Given the description of an element on the screen output the (x, y) to click on. 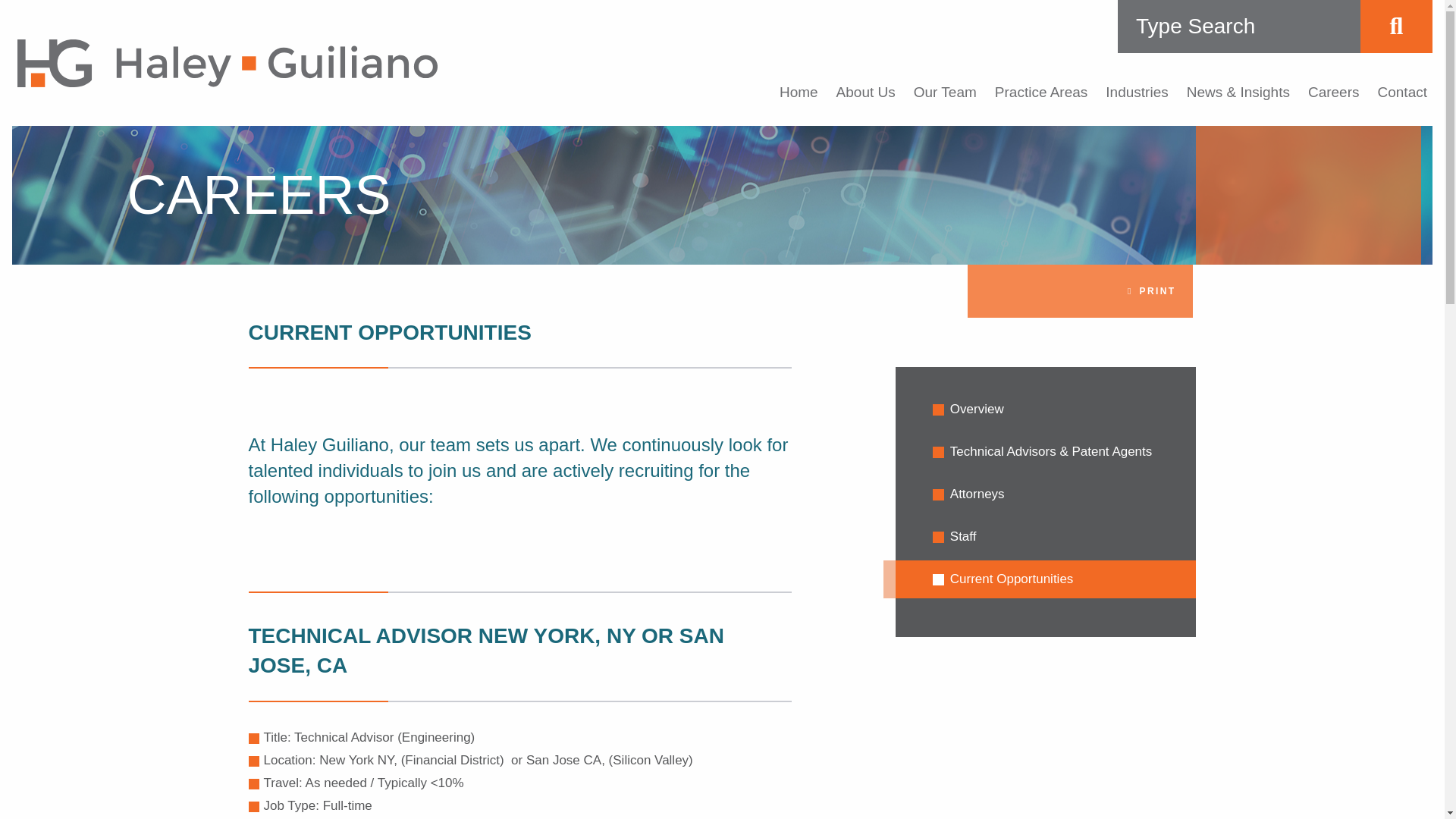
Current Opportunities (1045, 579)
PRINT (1080, 290)
Careers (1333, 92)
Home (798, 92)
Contact (1401, 92)
Staff (1045, 536)
Industries (1136, 92)
HG (227, 62)
Attorneys (1045, 494)
Overview (1045, 409)
Practice Areas (1040, 92)
About Us (865, 92)
Our Team (945, 92)
